Given the description of an element on the screen output the (x, y) to click on. 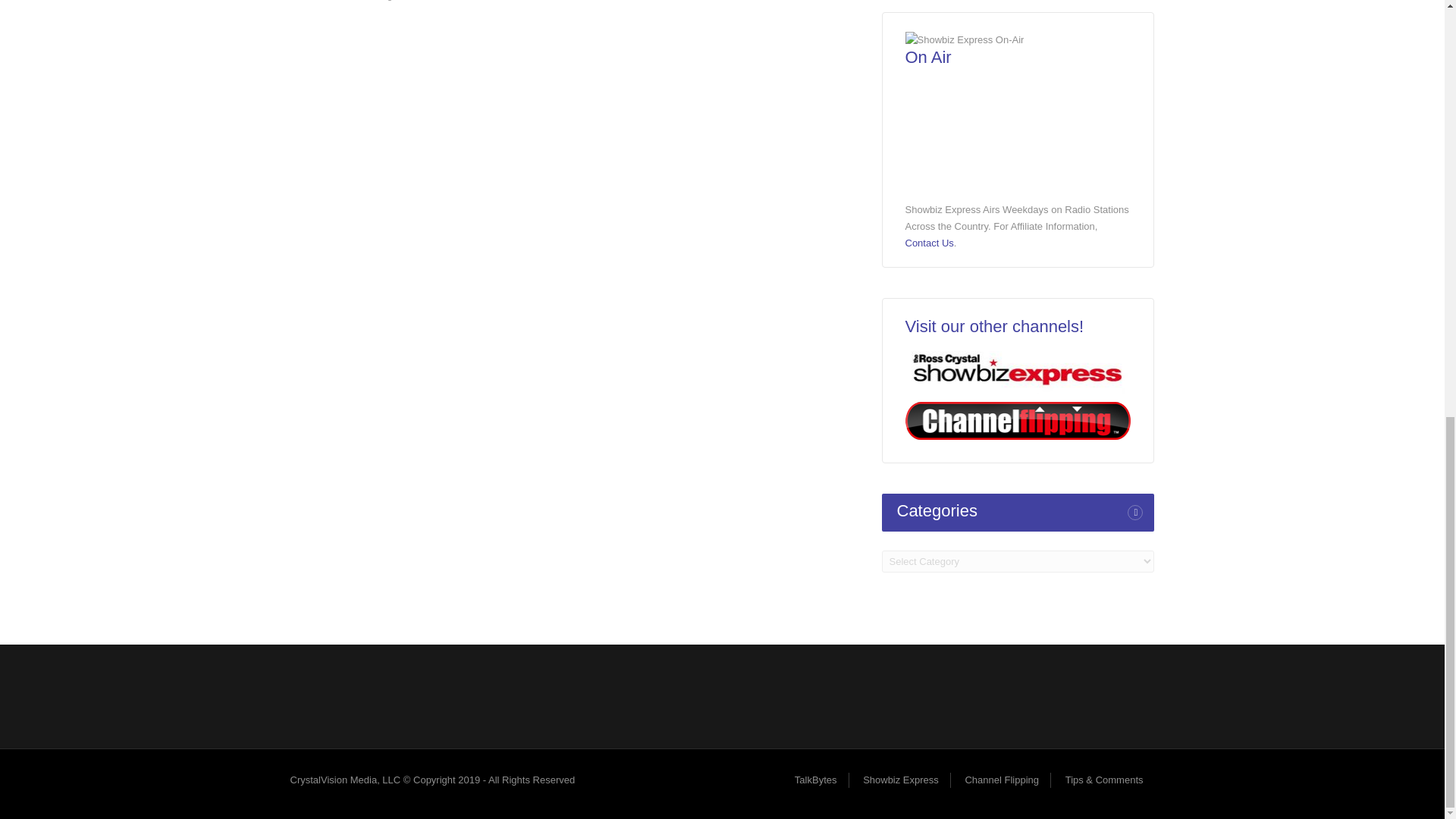
TalkBytes (815, 779)
Contact Us (929, 242)
Submit (829, 30)
Advertisement (721, 694)
Channel Flipping (1001, 779)
Showbiz Express (901, 779)
